Given the description of an element on the screen output the (x, y) to click on. 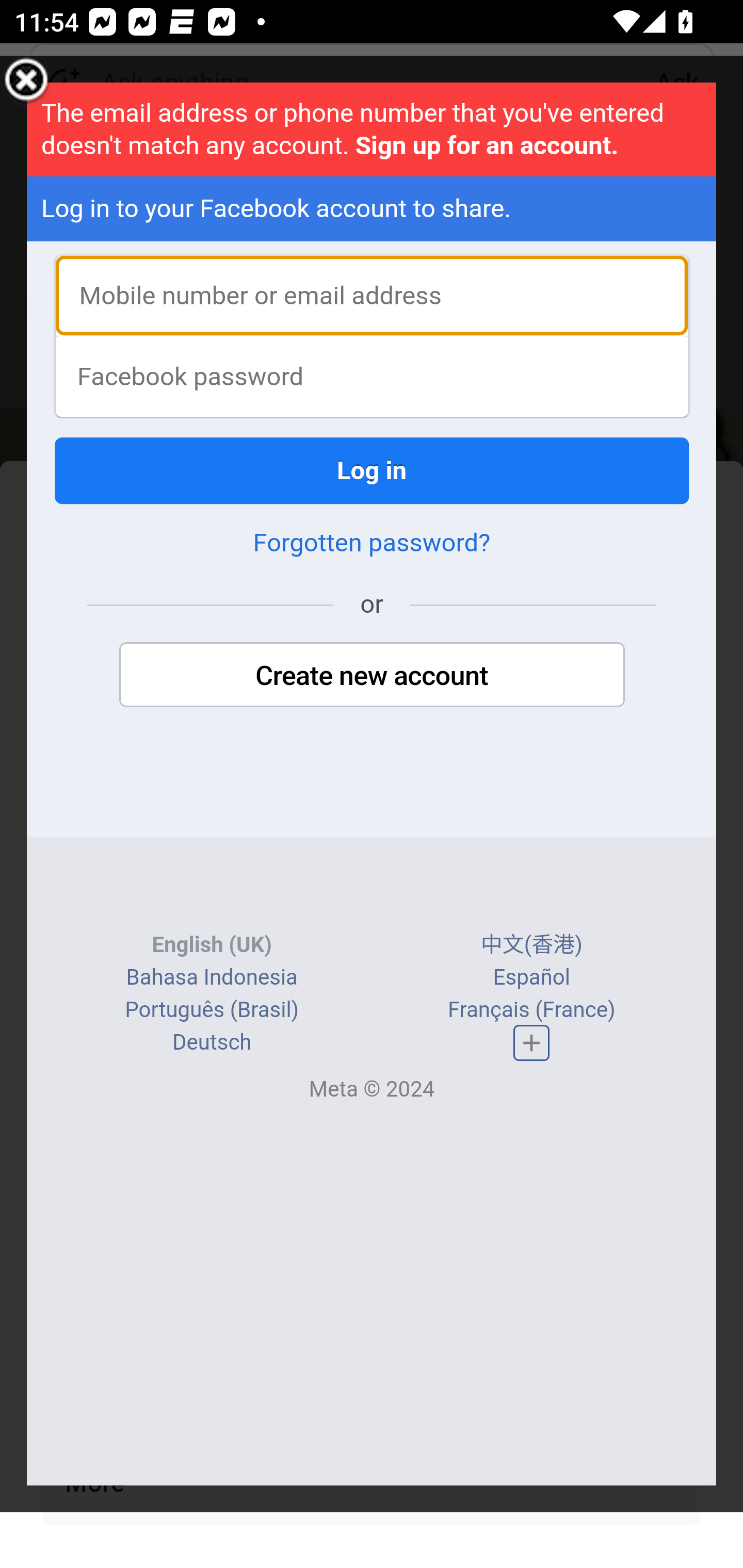
Sign up for an account. (485, 145)
Log in (372, 469)
Forgotten password? (371, 542)
Create new account (371, 675)
中文(香港) (531, 944)
Bahasa Indonesia (210, 976)
Español (530, 976)
Português (Brasil) (211, 1008)
Français (France) (530, 1008)
Complete list of languages (531, 1043)
Deutsch (211, 1041)
